Given the description of an element on the screen output the (x, y) to click on. 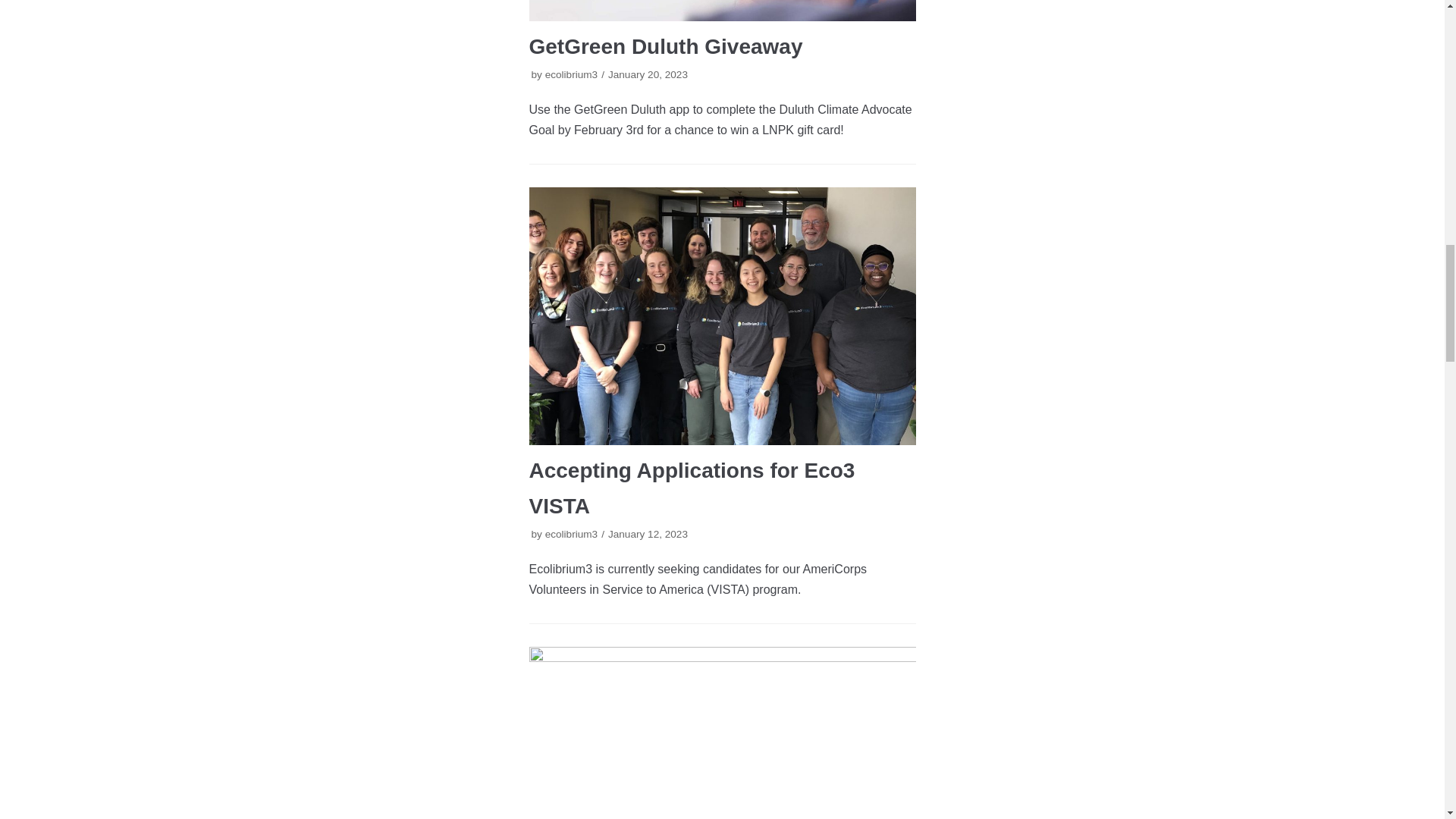
Posts by ecolibrium3 (571, 74)
Accepting Applications for Eco3 VISTA (722, 316)
GetGreen Duluth Giveaway (722, 10)
Posts by ecolibrium3 (571, 533)
